Given the description of an element on the screen output the (x, y) to click on. 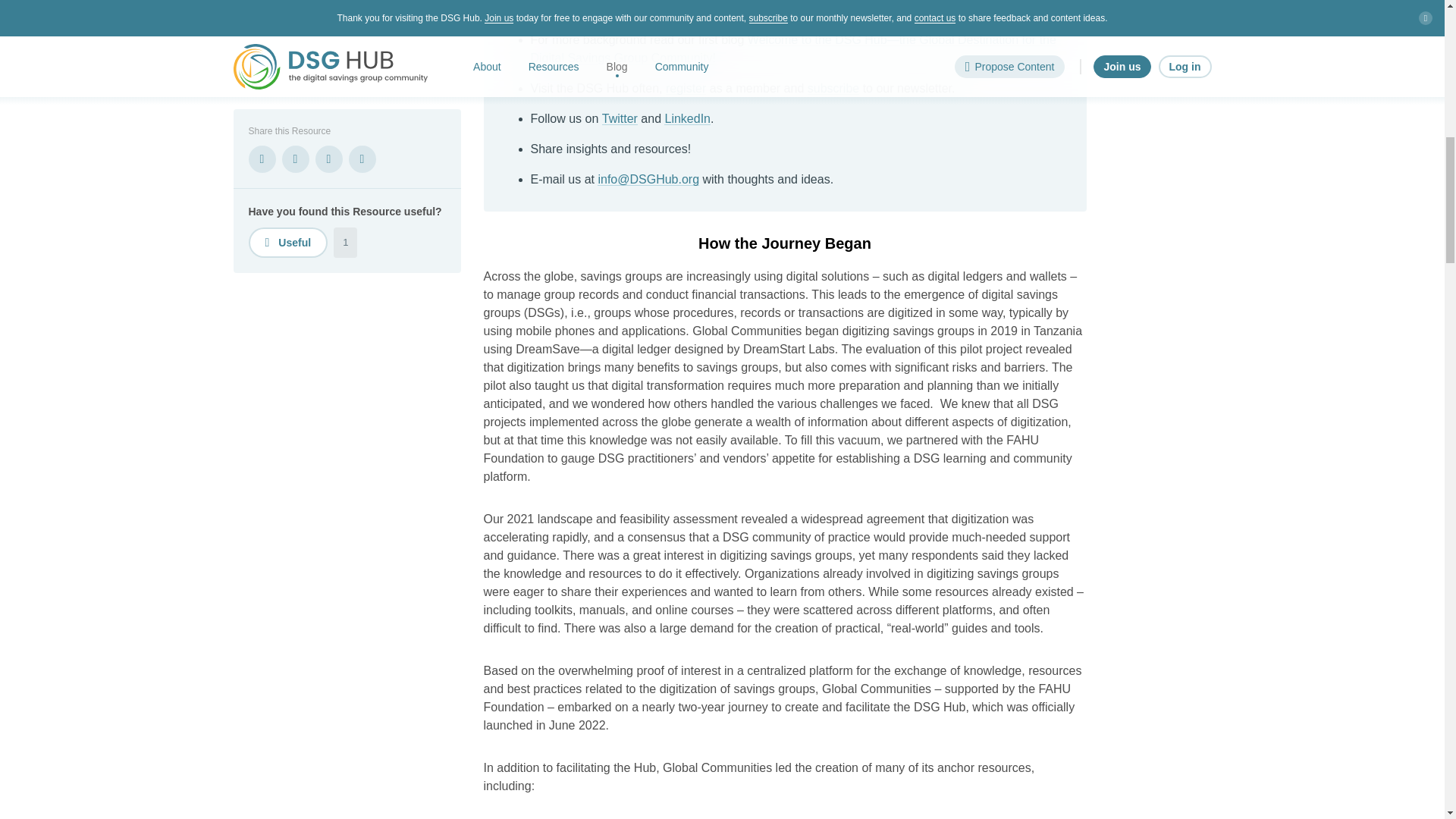
register (685, 88)
Twitter (619, 118)
subscribe (833, 88)
LinkedIn (686, 118)
